Given the description of an element on the screen output the (x, y) to click on. 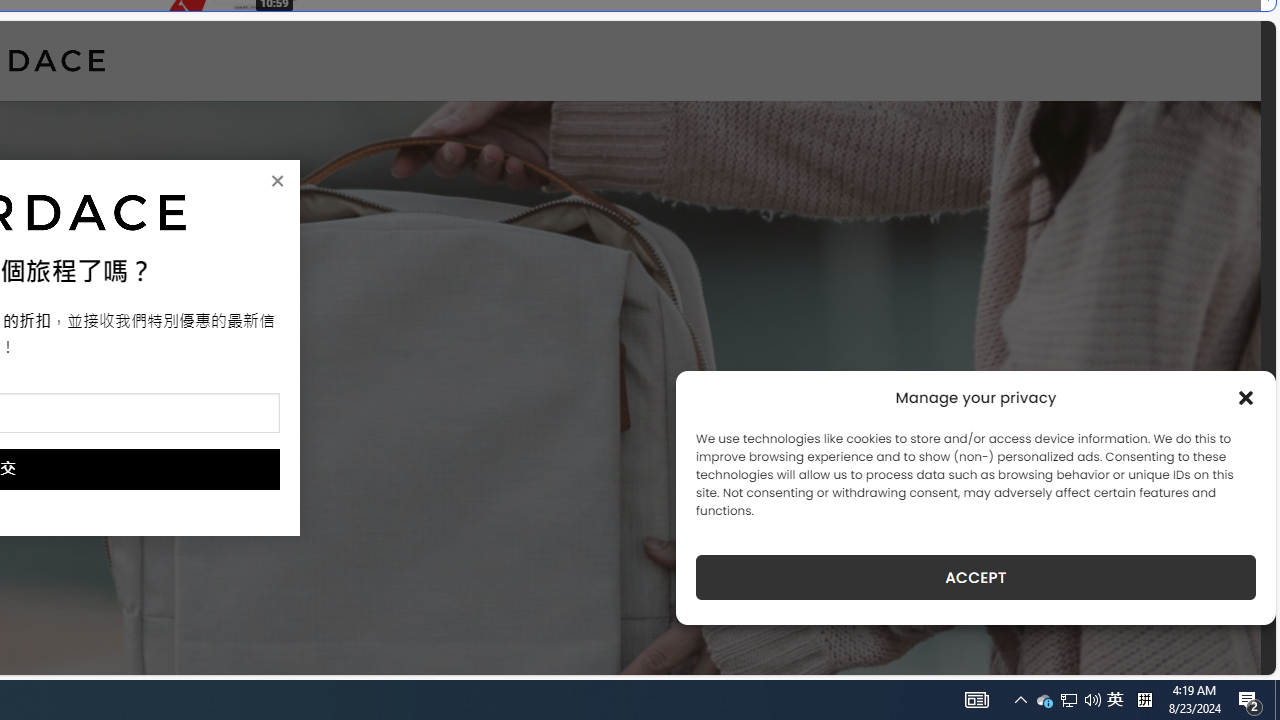
ACCEPT (975, 577)
Class: cmplz-close (1245, 398)
